Given the description of an element on the screen output the (x, y) to click on. 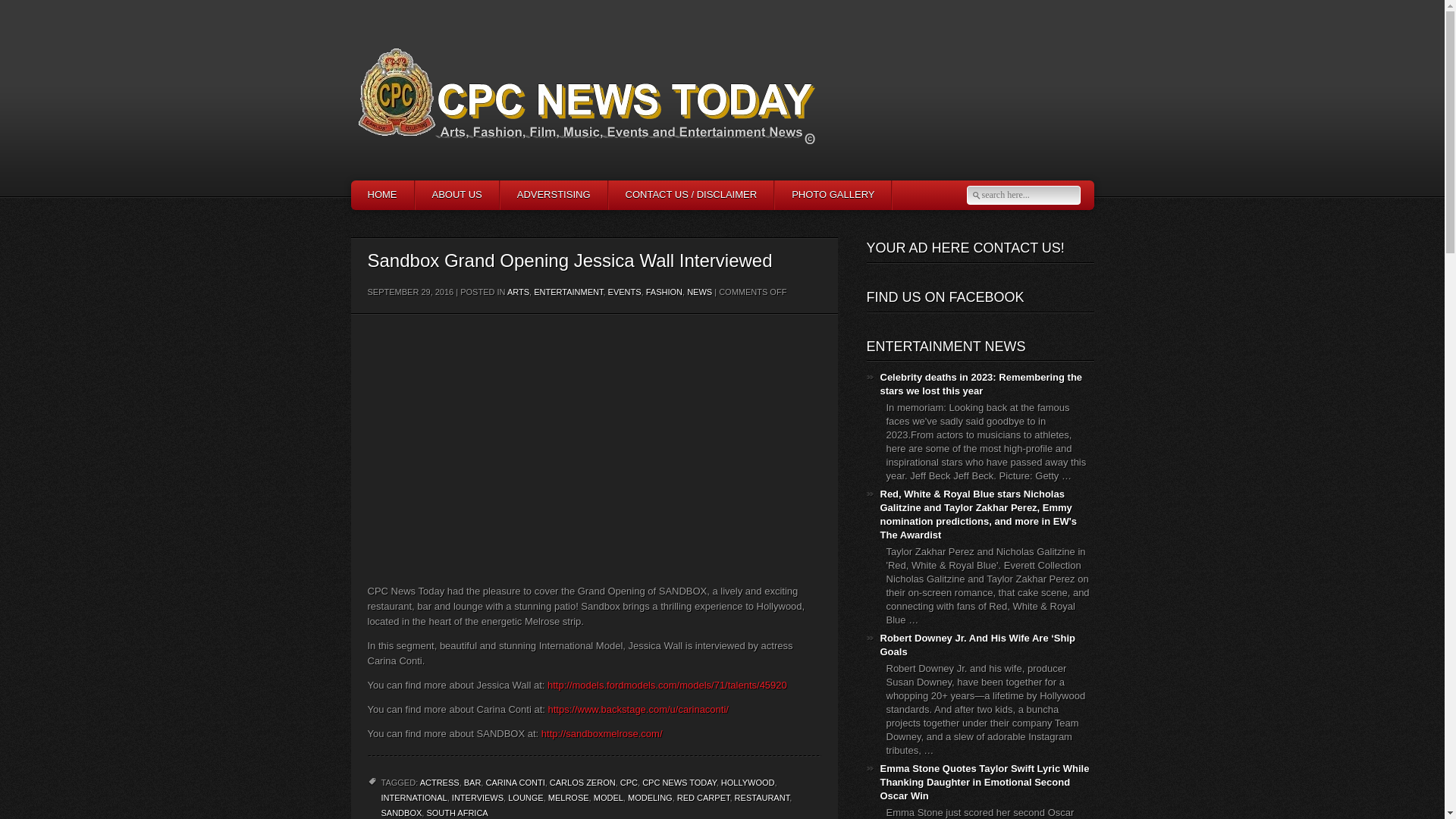
SANDBOX (401, 813)
CPC (628, 782)
MELROSE (568, 798)
LOUNGE (525, 798)
ARTS (517, 292)
RED CARPET (703, 798)
CARINA CONTI (514, 782)
NEWS (699, 292)
RESTAURANT (762, 798)
